Given the description of an element on the screen output the (x, y) to click on. 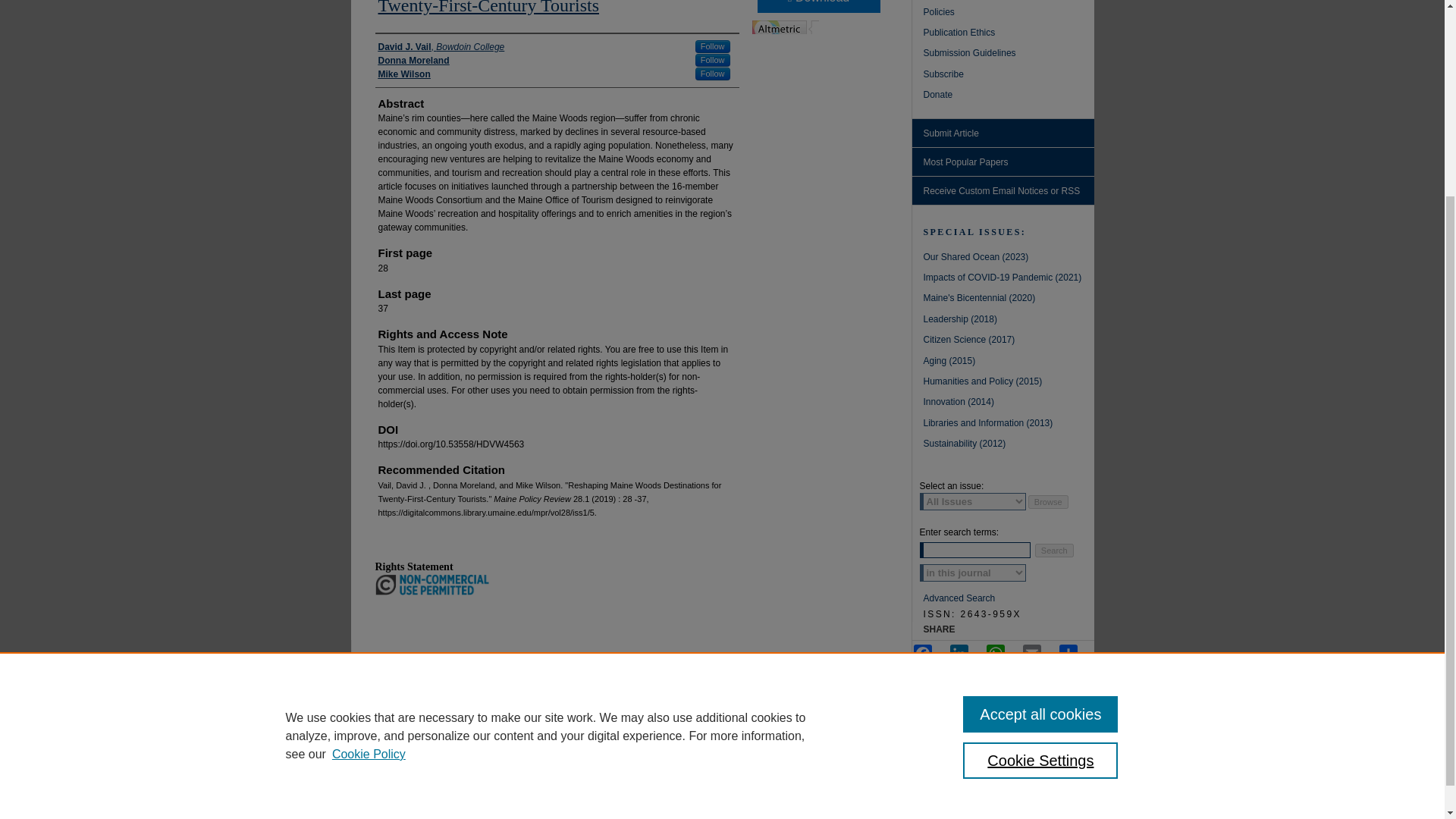
Subscribe (1008, 75)
Policies (1008, 13)
Search (1054, 550)
Search (1054, 550)
Submit Article to Maine Policy Review (1002, 133)
Mike Wilson (403, 74)
Follow Donna Moreland (712, 60)
Donna Moreland (412, 60)
Receive notifications of new content (1002, 190)
Maine Policy Review Submission Guidelines (1008, 54)
Download (818, 6)
Submission Guidelines (1008, 54)
Follow (712, 73)
Subscribe (1008, 75)
